Given the description of an element on the screen output the (x, y) to click on. 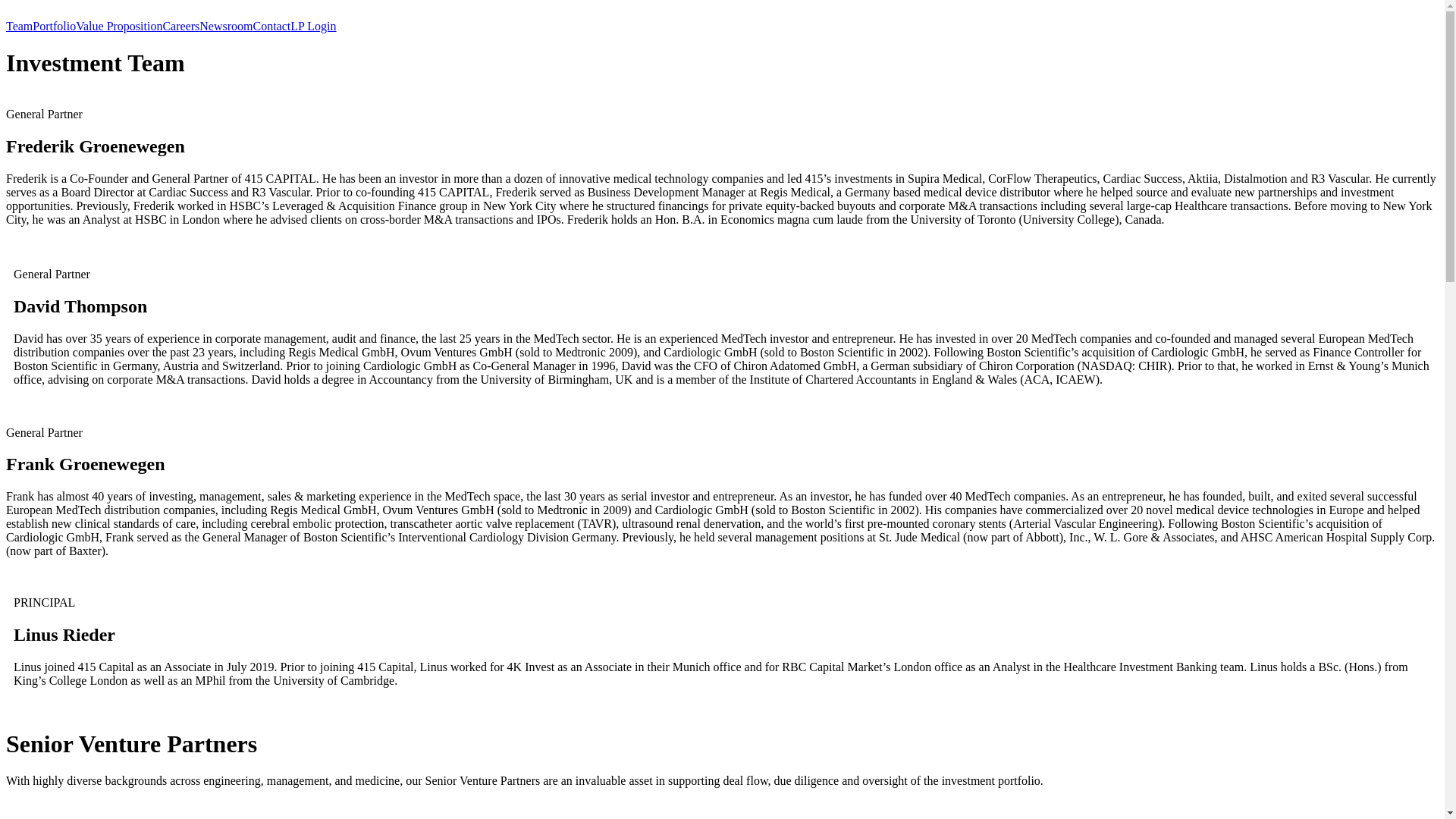
Team Element type: text (19, 25)
Newsroom Element type: text (225, 25)
Value Proposition Element type: text (118, 25)
LP Login Element type: text (312, 25)
Portfolio Element type: text (53, 25)
Contact Element type: text (272, 25)
Careers Element type: text (180, 25)
